Given the description of an element on the screen output the (x, y) to click on. 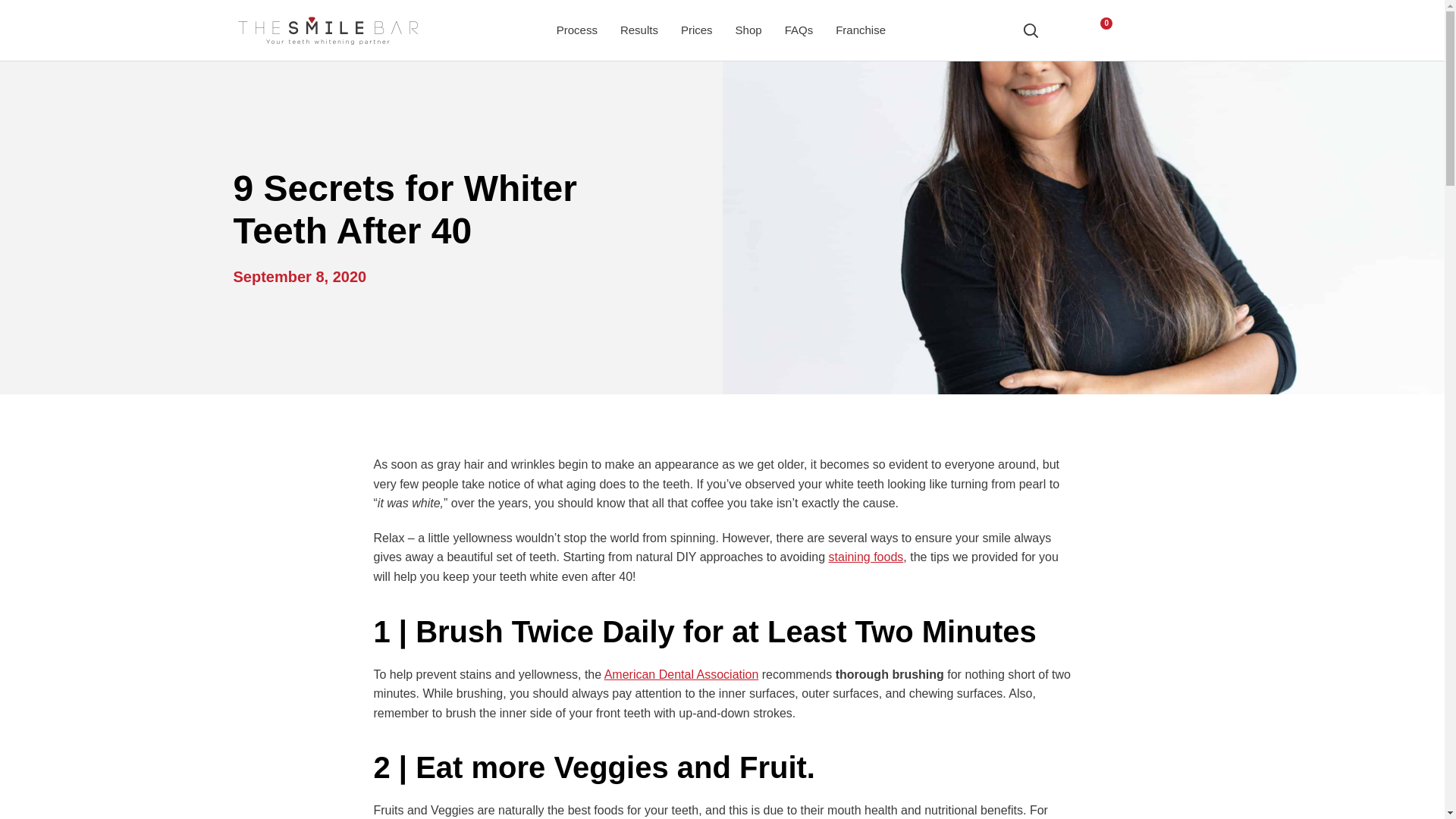
staining foods (866, 556)
0 (1098, 29)
Account (1064, 29)
American Dental Association (681, 674)
Search (1030, 29)
BOOK NOW (1168, 29)
